Given the description of an element on the screen output the (x, y) to click on. 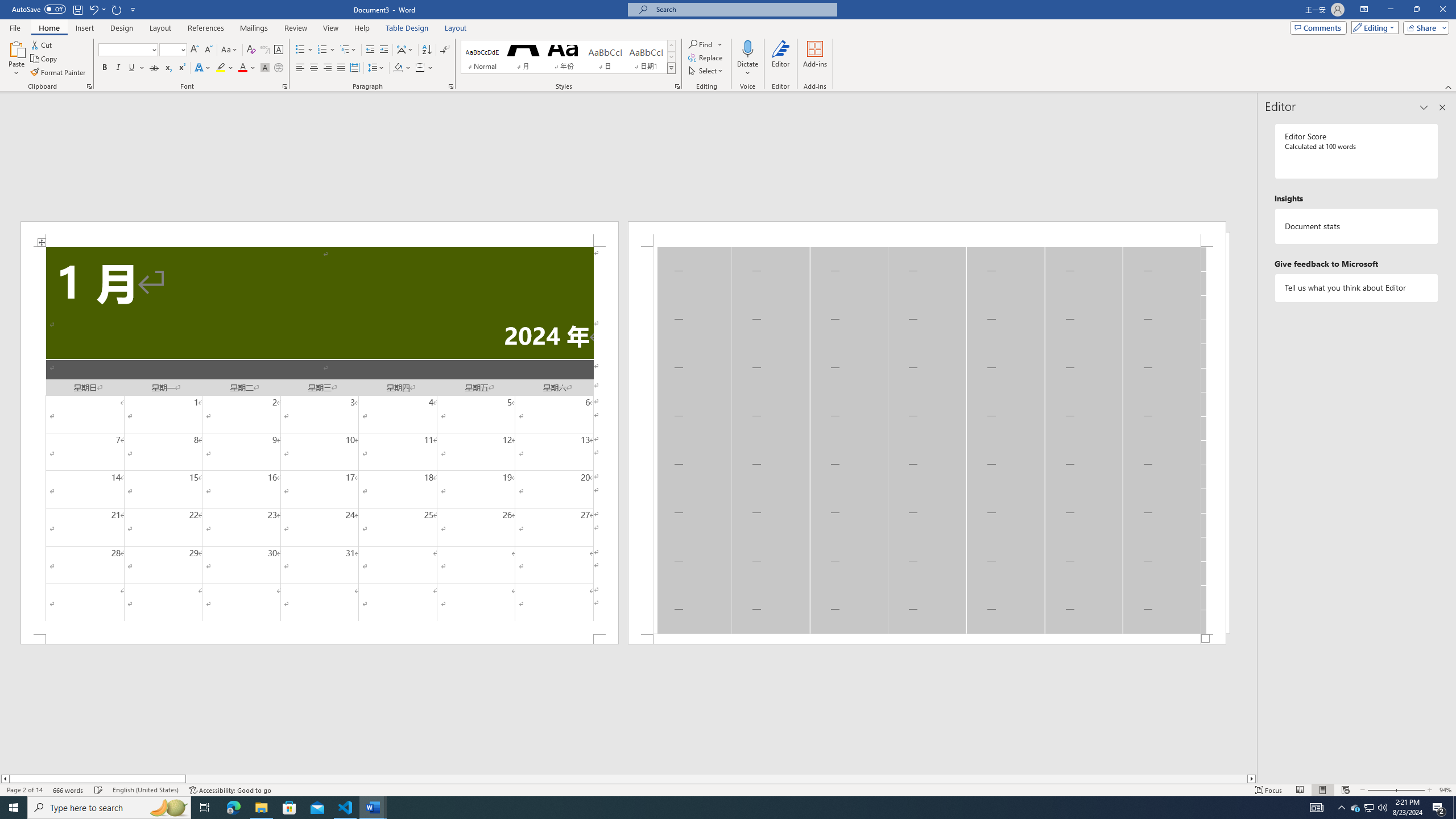
Page 1 content (319, 439)
Align Right (327, 67)
Center (313, 67)
